Given the description of an element on the screen output the (x, y) to click on. 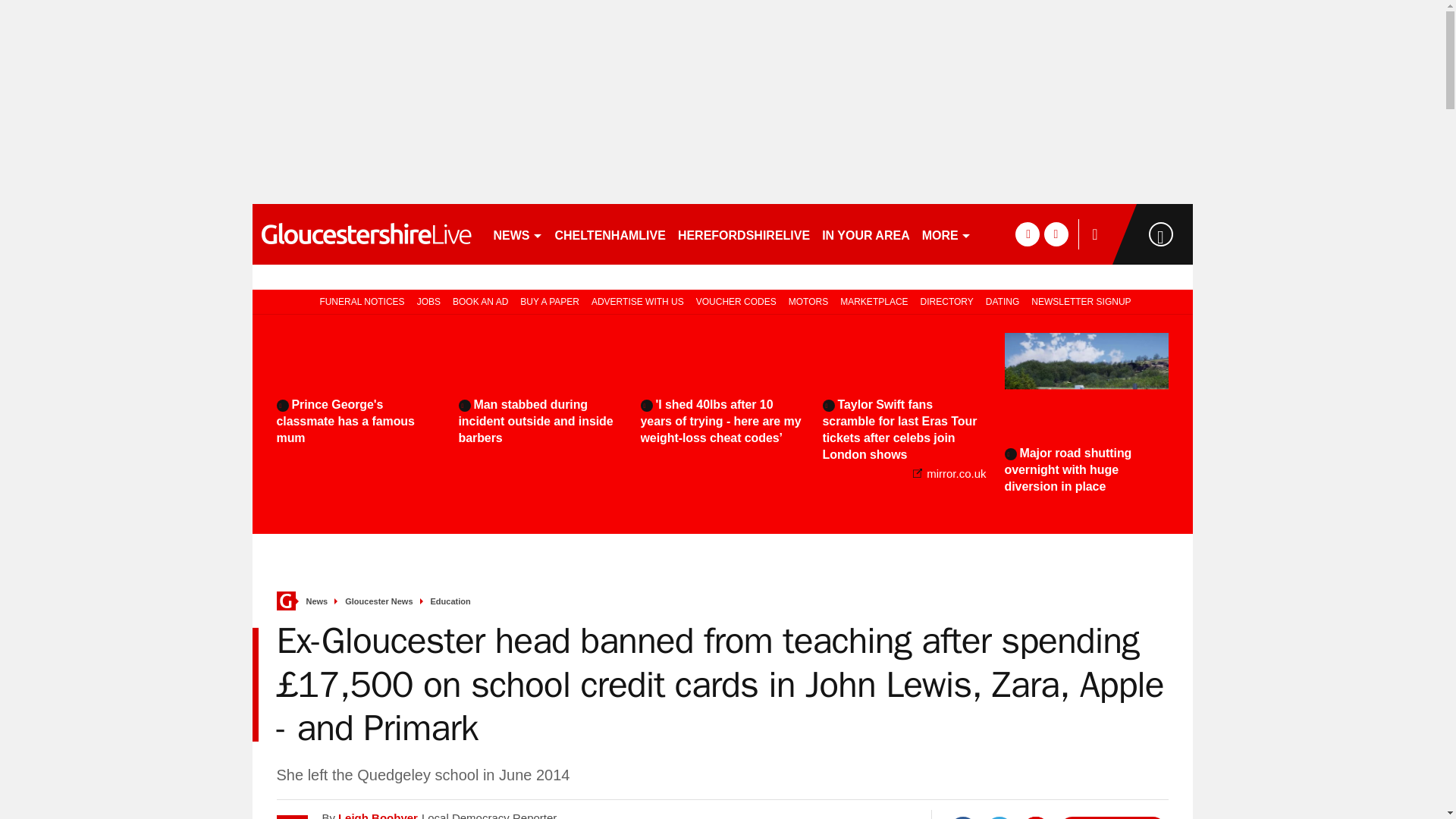
IN YOUR AREA (865, 233)
gloucestershirelive (365, 233)
NEWS (517, 233)
MORE (945, 233)
Twitter (999, 817)
HEREFORDSHIRELIVE (743, 233)
CHELTENHAMLIVE (609, 233)
Comments (1112, 817)
twitter (1055, 233)
facebook (1026, 233)
